Given the description of an element on the screen output the (x, y) to click on. 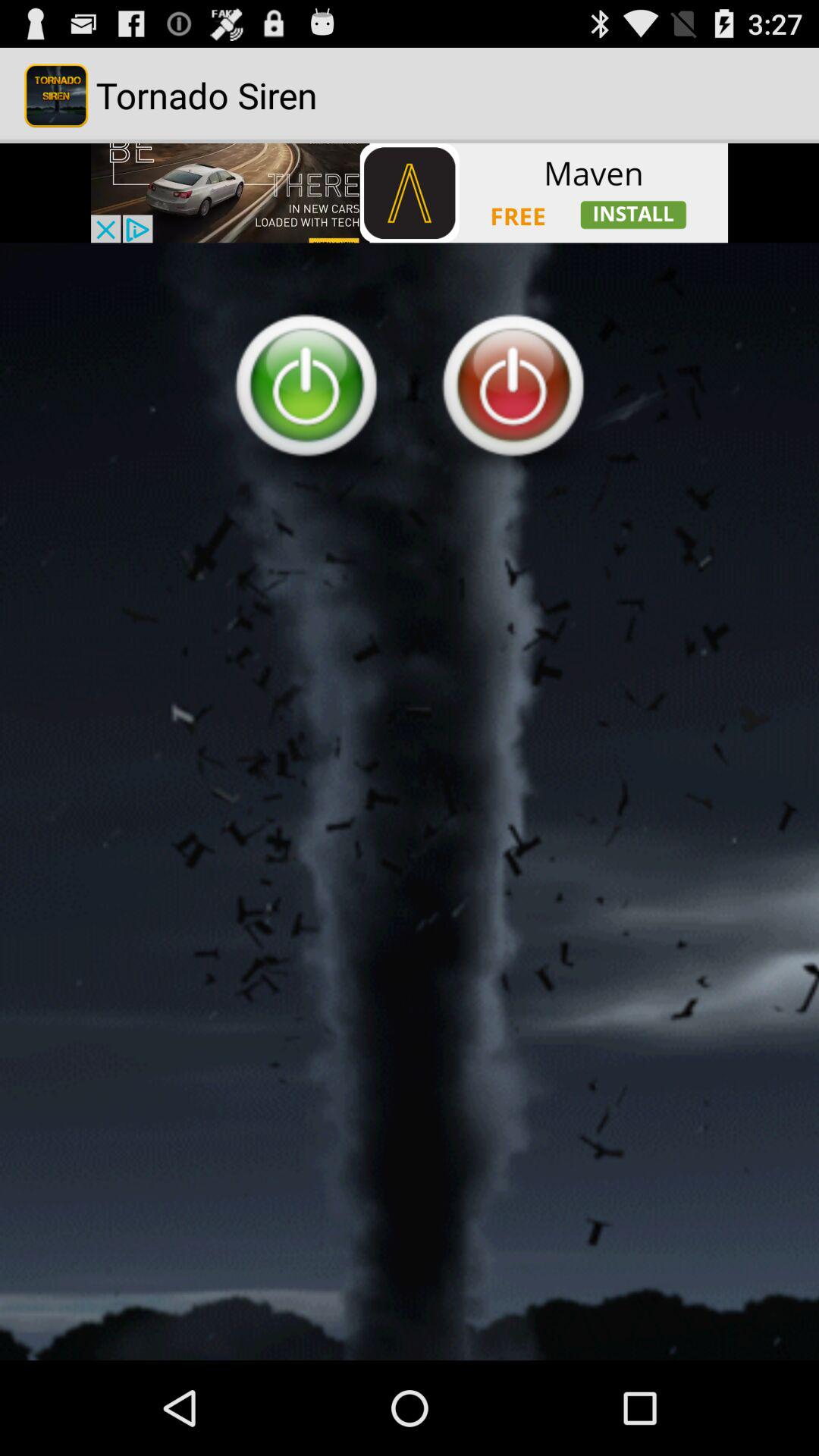
backround picture (409, 801)
